Given the description of an element on the screen output the (x, y) to click on. 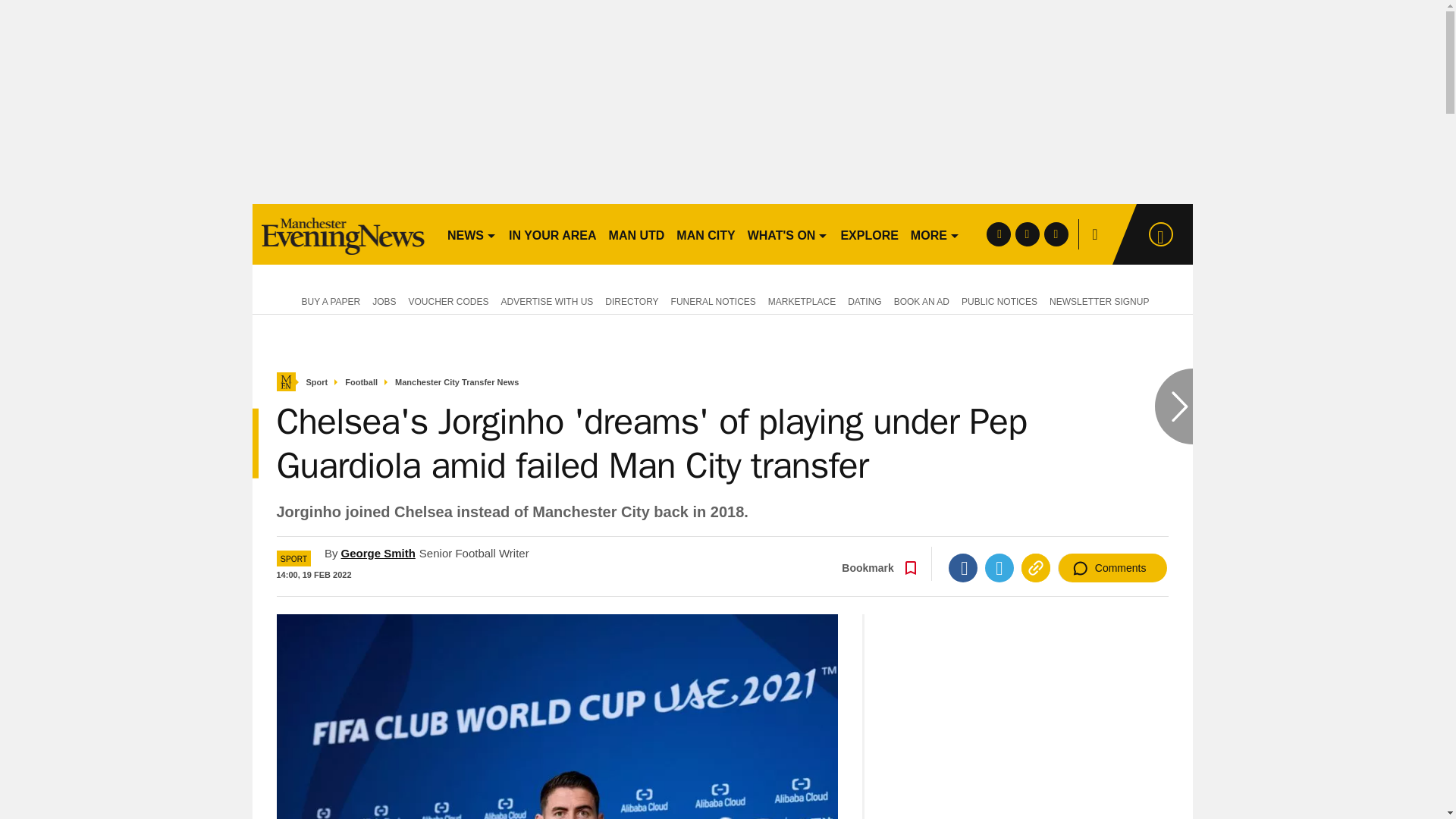
instagram (1055, 233)
NEWS (471, 233)
men (342, 233)
IN YOUR AREA (552, 233)
Facebook (962, 567)
Comments (1112, 567)
Twitter (999, 567)
twitter (1026, 233)
MAN UTD (636, 233)
WHAT'S ON (787, 233)
